Given the description of an element on the screen output the (x, y) to click on. 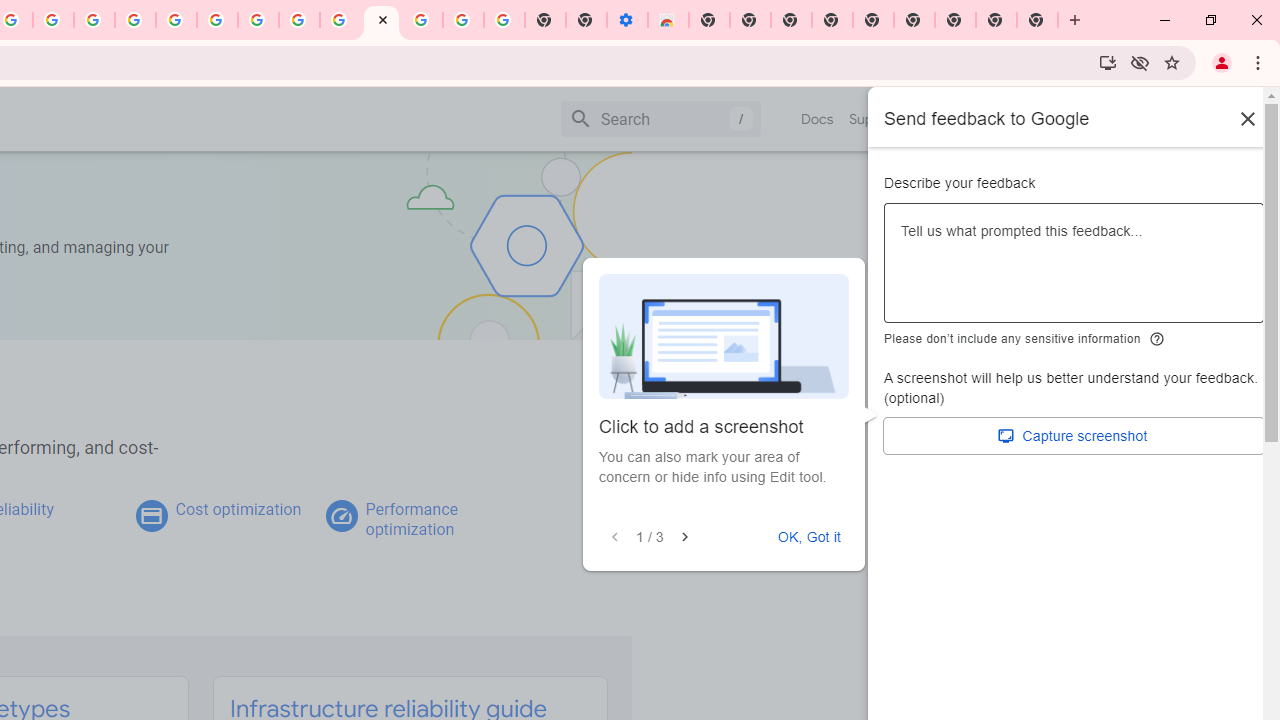
Describe your feedback (1074, 271)
Start free (1191, 118)
Ad Settings (135, 20)
OK, Got it (809, 537)
Browse the Google Chrome Community - Google Chrome Community (340, 20)
Google Account Help (462, 20)
Sign in - Google Accounts (176, 20)
Capture screenshot (1074, 436)
Docs (817, 119)
